Given the description of an element on the screen output the (x, y) to click on. 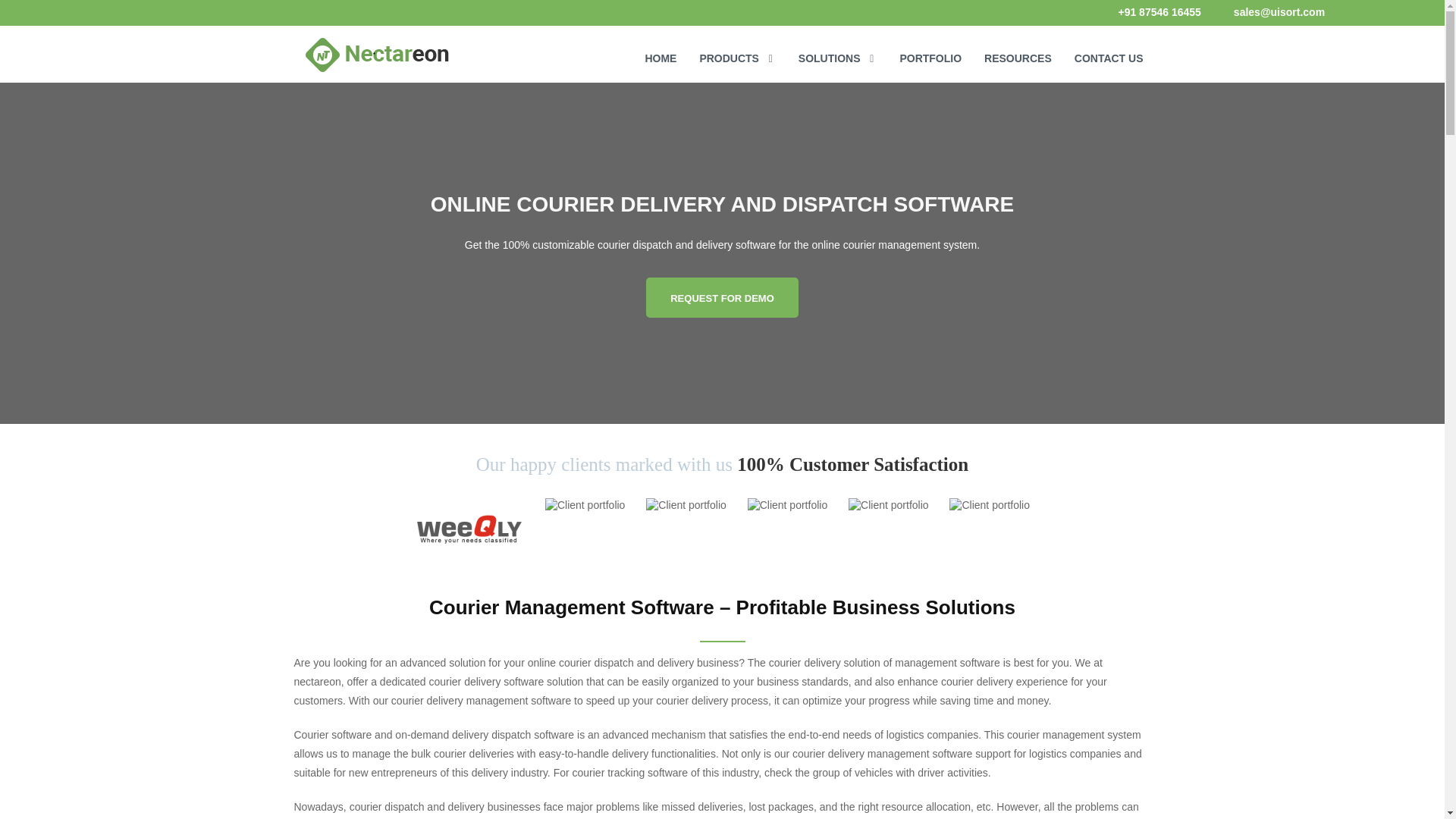
PORTFOLIO (929, 50)
REQUEST FOR DEMO (721, 297)
CONTACT US (1108, 50)
Products (736, 50)
india (1158, 11)
Nectareon (376, 55)
RESOURCES (1017, 50)
SOLUTIONS (837, 50)
REQUEST FOR DEMO (721, 297)
PRODUCTS (736, 50)
